Given the description of an element on the screen output the (x, y) to click on. 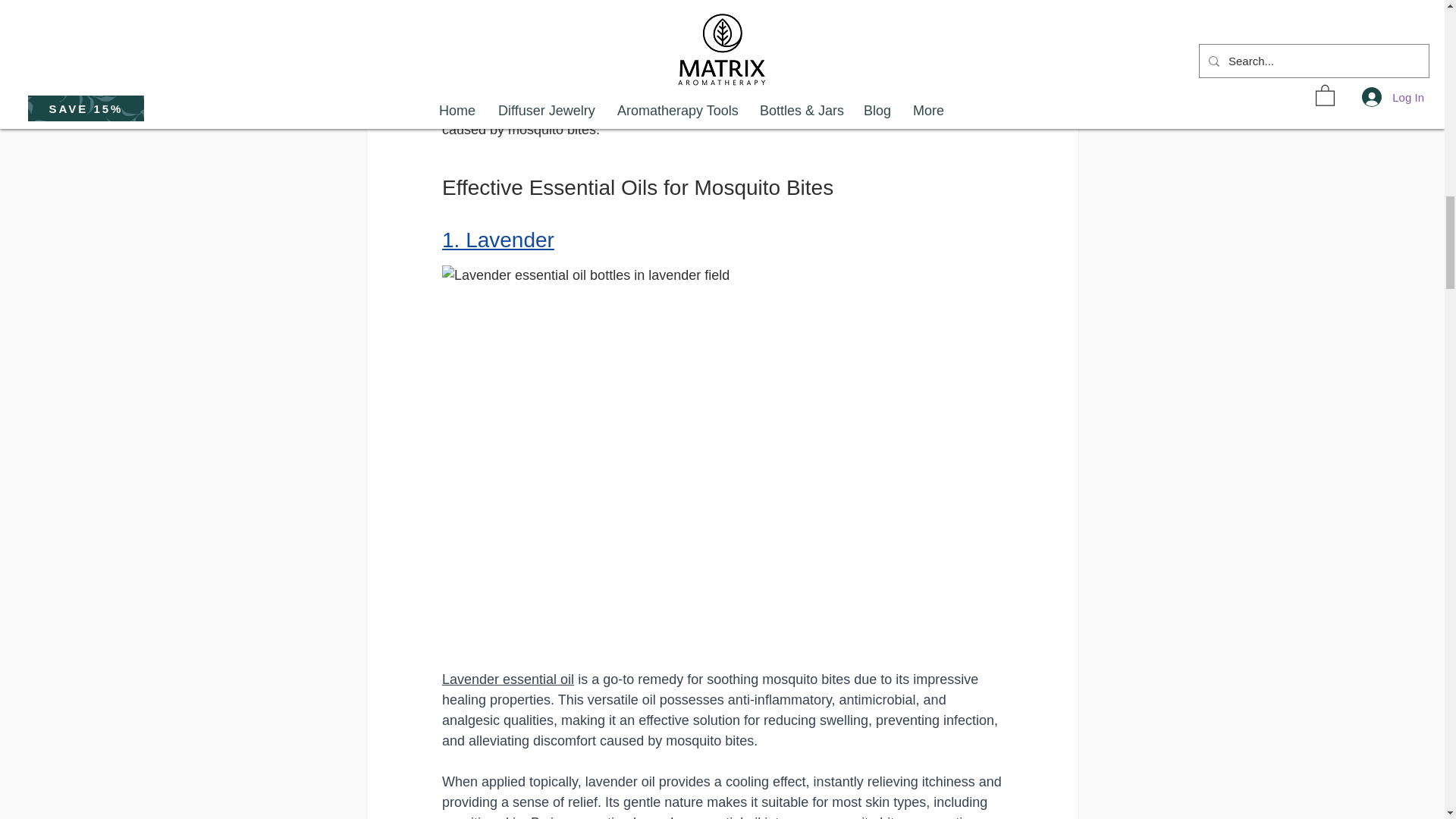
Lavender essential oil (507, 679)
1. Lavender (497, 239)
